Given the description of an element on the screen output the (x, y) to click on. 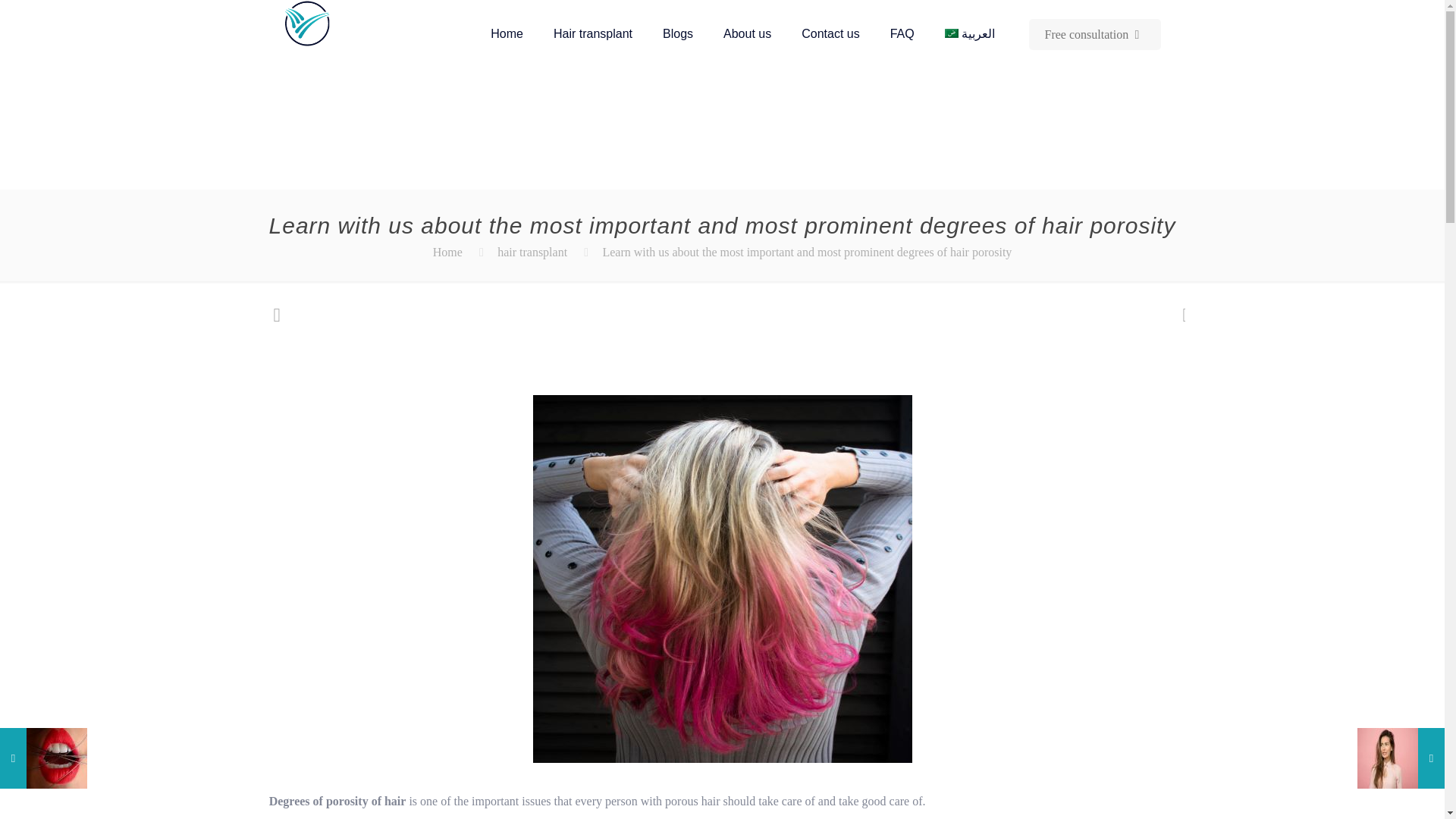
Free consultation (1094, 33)
Blogs (677, 33)
Contact us (830, 33)
Home (447, 251)
Right Hair Clinic (306, 22)
About us (746, 33)
hair transplant (532, 251)
Home (507, 33)
Hair transplant (592, 33)
